Given the description of an element on the screen output the (x, y) to click on. 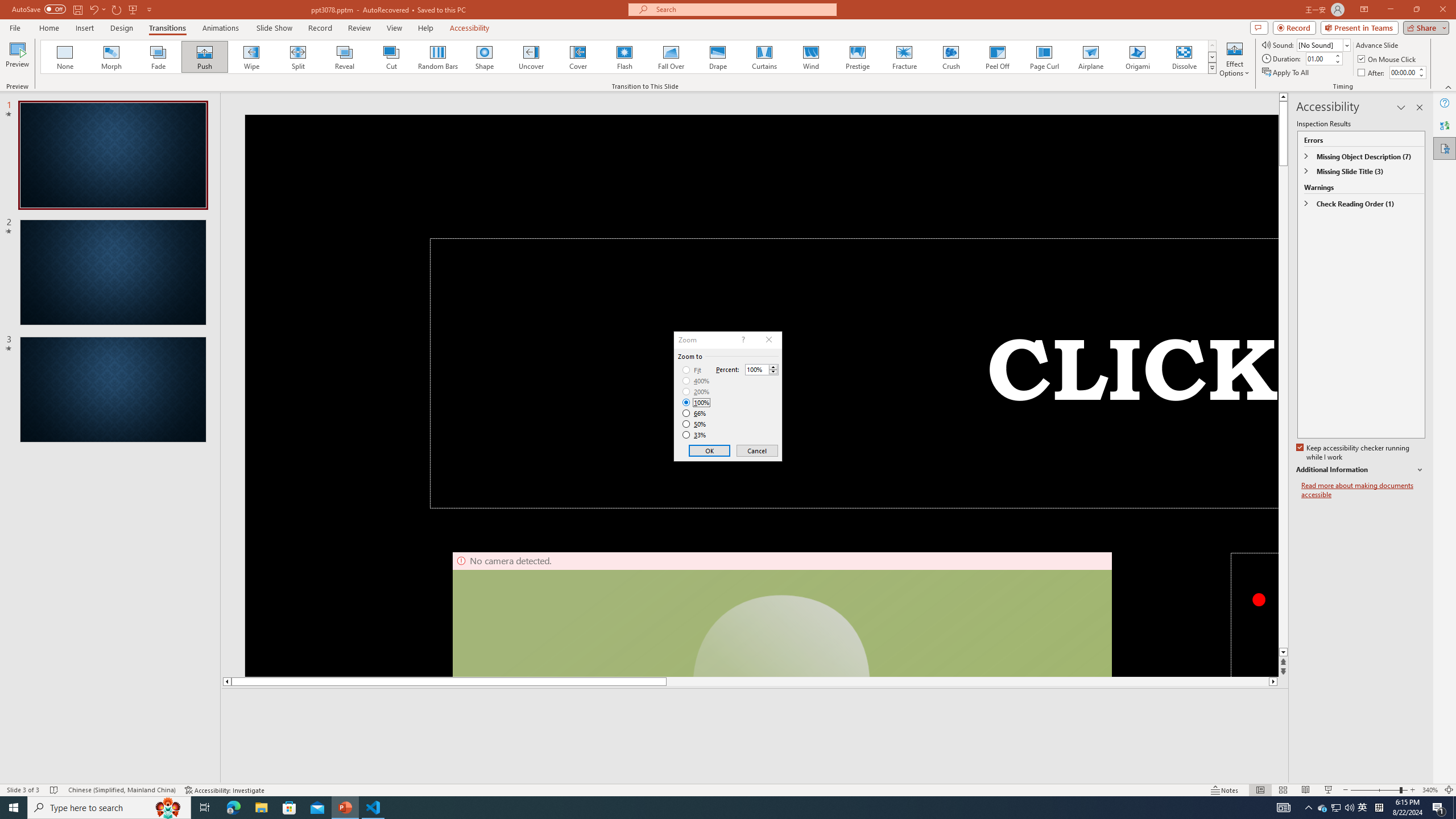
Transition Effects (1212, 67)
Flash (624, 56)
Airplane (1090, 56)
200% (1322, 807)
Push (696, 391)
Fall Over (205, 56)
